Given the description of an element on the screen output the (x, y) to click on. 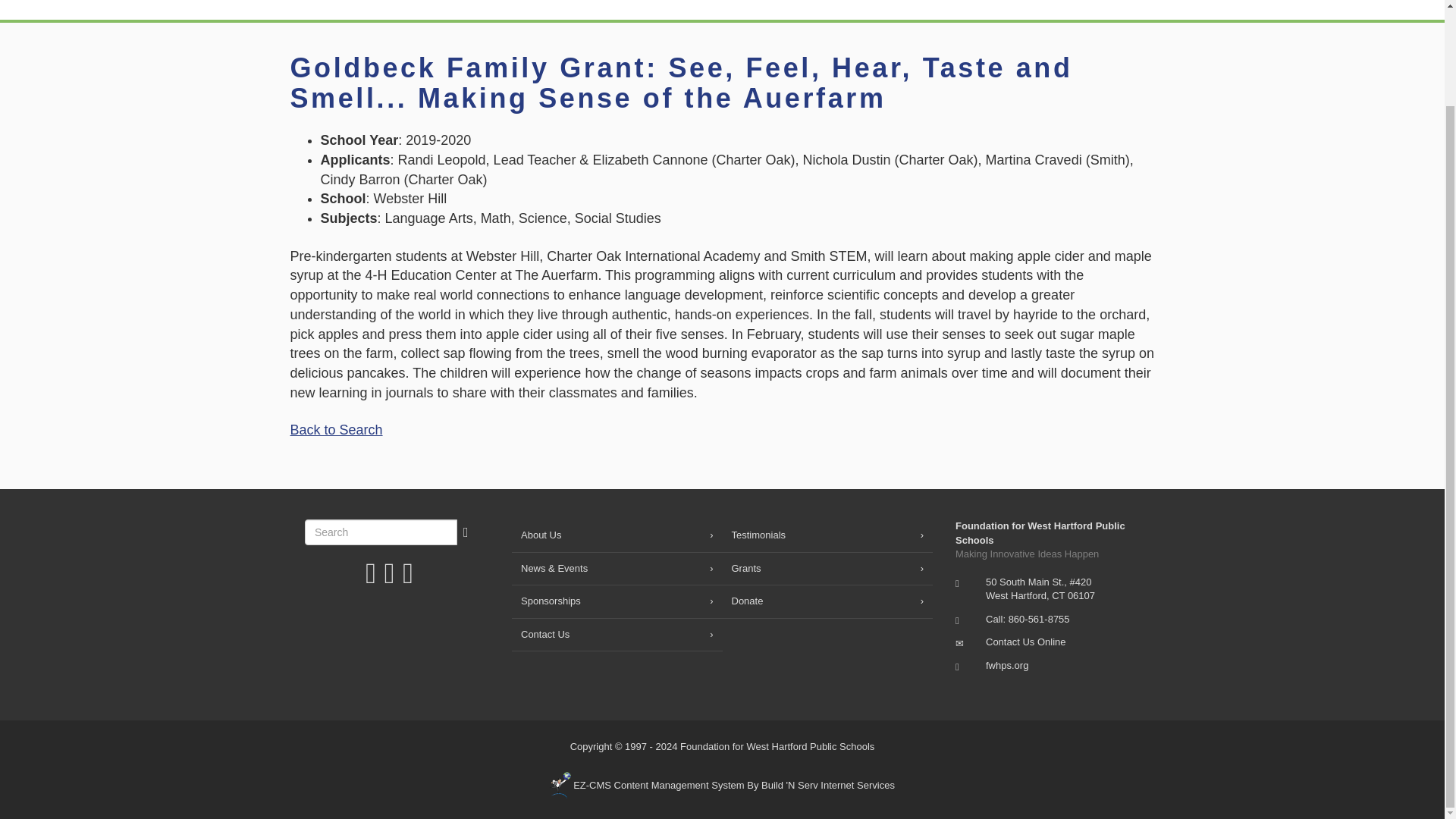
Testimonials (827, 535)
About Us (617, 535)
Back to Search (335, 429)
Testimonials (617, 9)
Sponsorships  (938, 9)
Contact Us (1025, 641)
Build 'N Serv Internet Services (722, 785)
Grants  (837, 9)
Contact Us (1118, 9)
Donate (1035, 9)
